Given the description of an element on the screen output the (x, y) to click on. 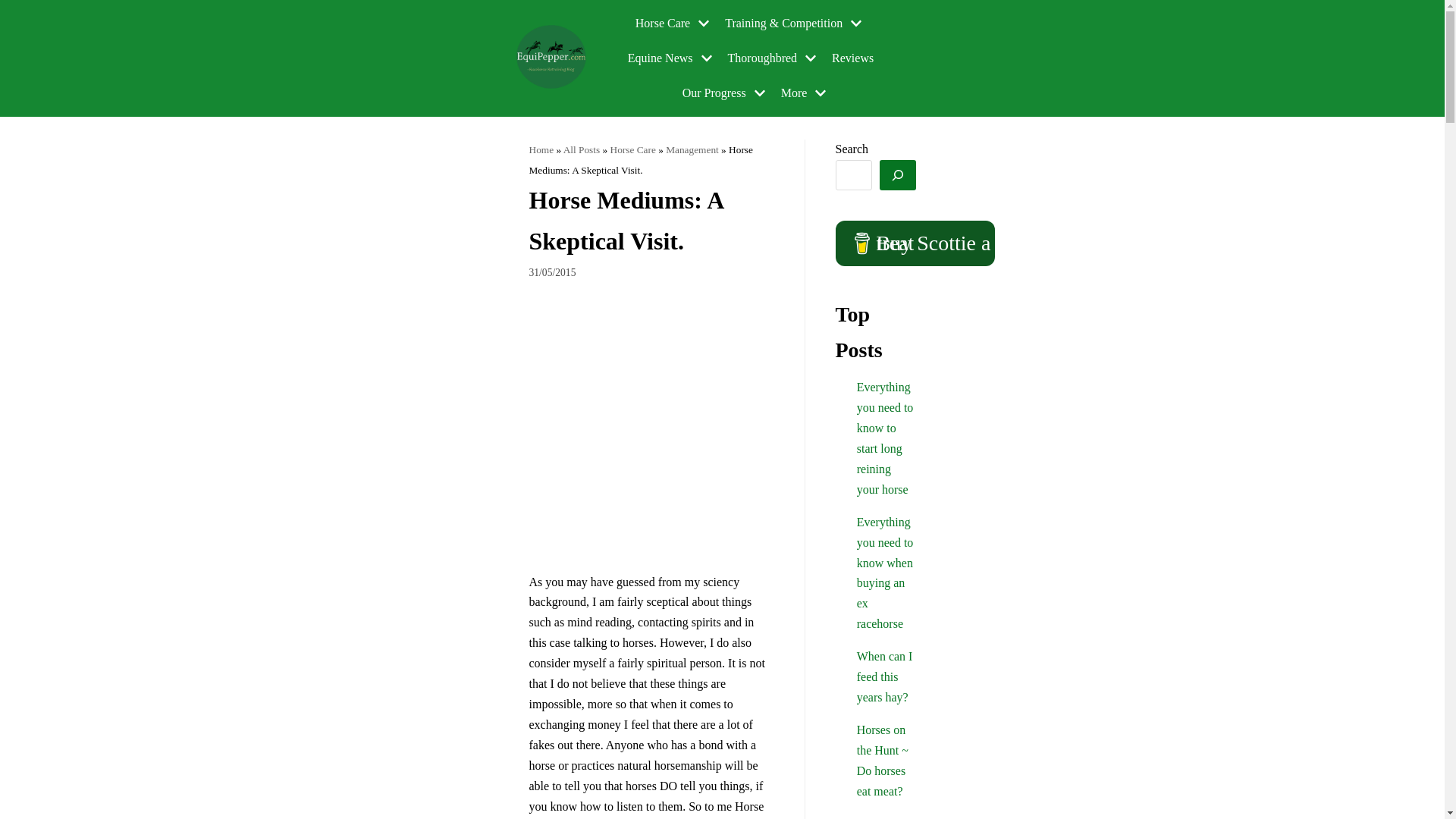
Our Progress (726, 93)
Equine News (671, 57)
EquiPepper (551, 57)
Skip to content (15, 7)
Reviews (852, 58)
Horse Care (673, 23)
More (805, 93)
Thoroughbred (774, 57)
